Given the description of an element on the screen output the (x, y) to click on. 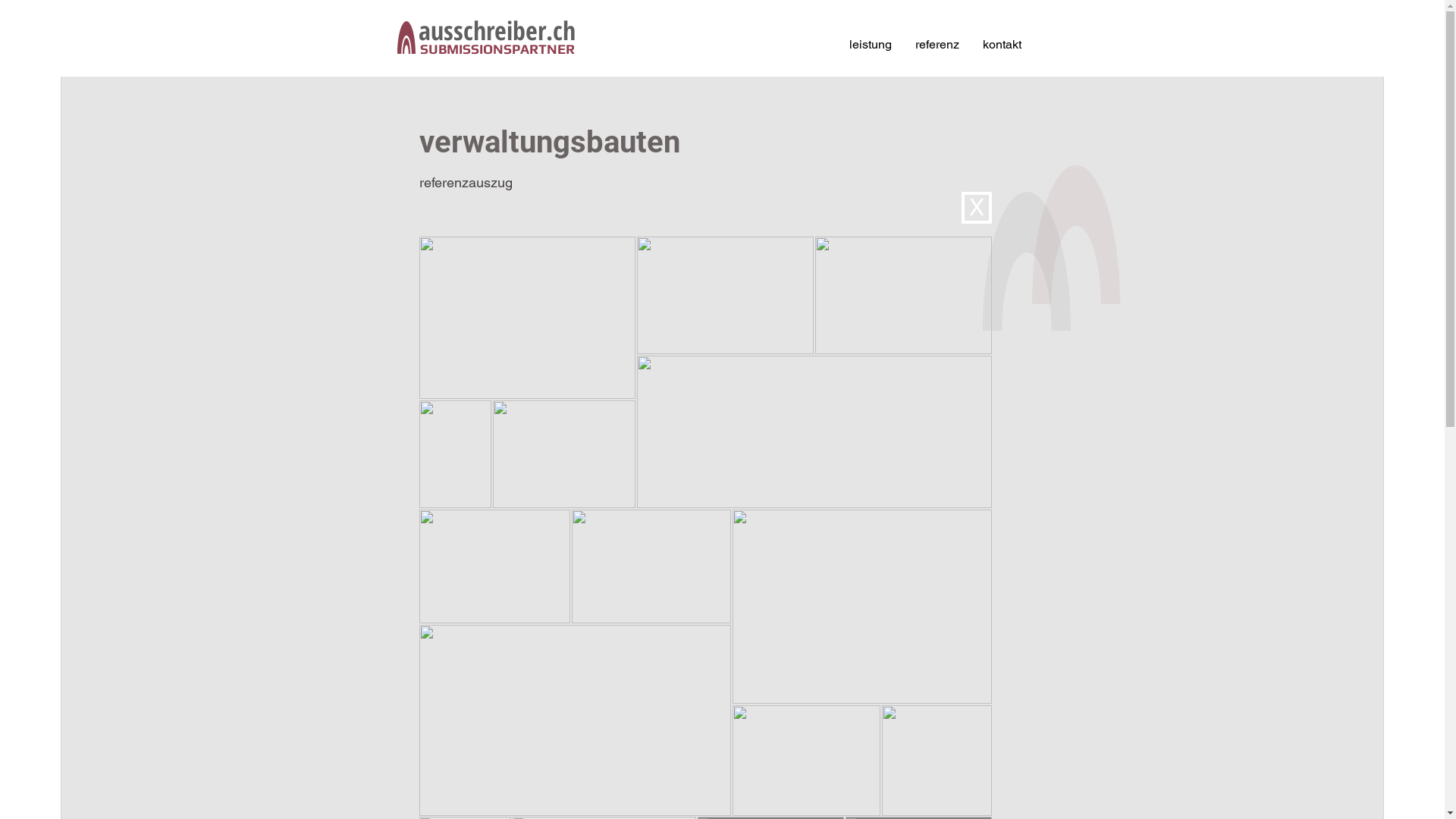
leistung Element type: text (870, 44)
kontakt Element type: text (1001, 44)
X Element type: text (976, 207)
referenz Element type: text (936, 44)
